Given the description of an element on the screen output the (x, y) to click on. 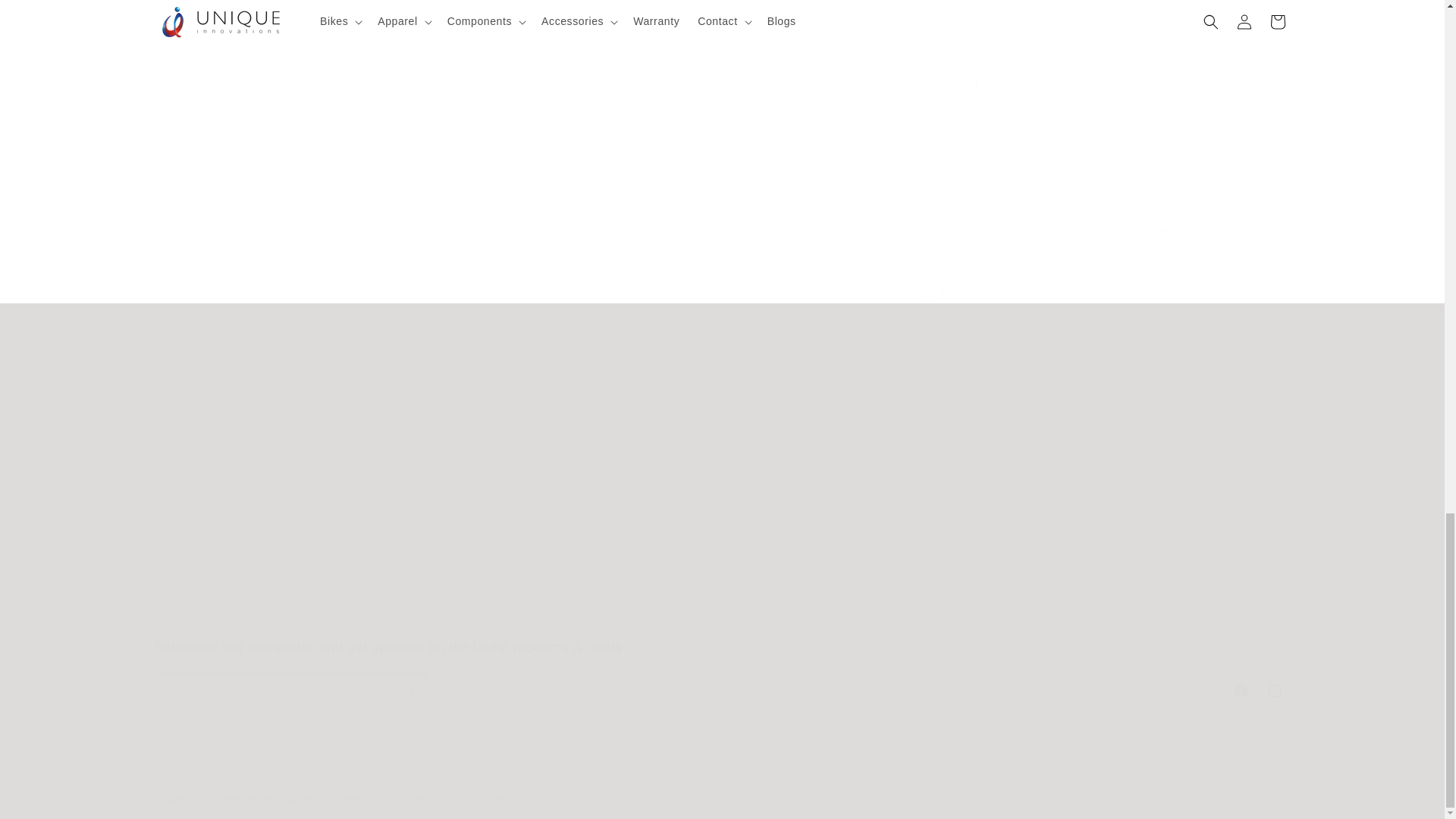
Open media 5 in modal (709, 139)
Open media 4 in modal (335, 139)
